Given the description of an element on the screen output the (x, y) to click on. 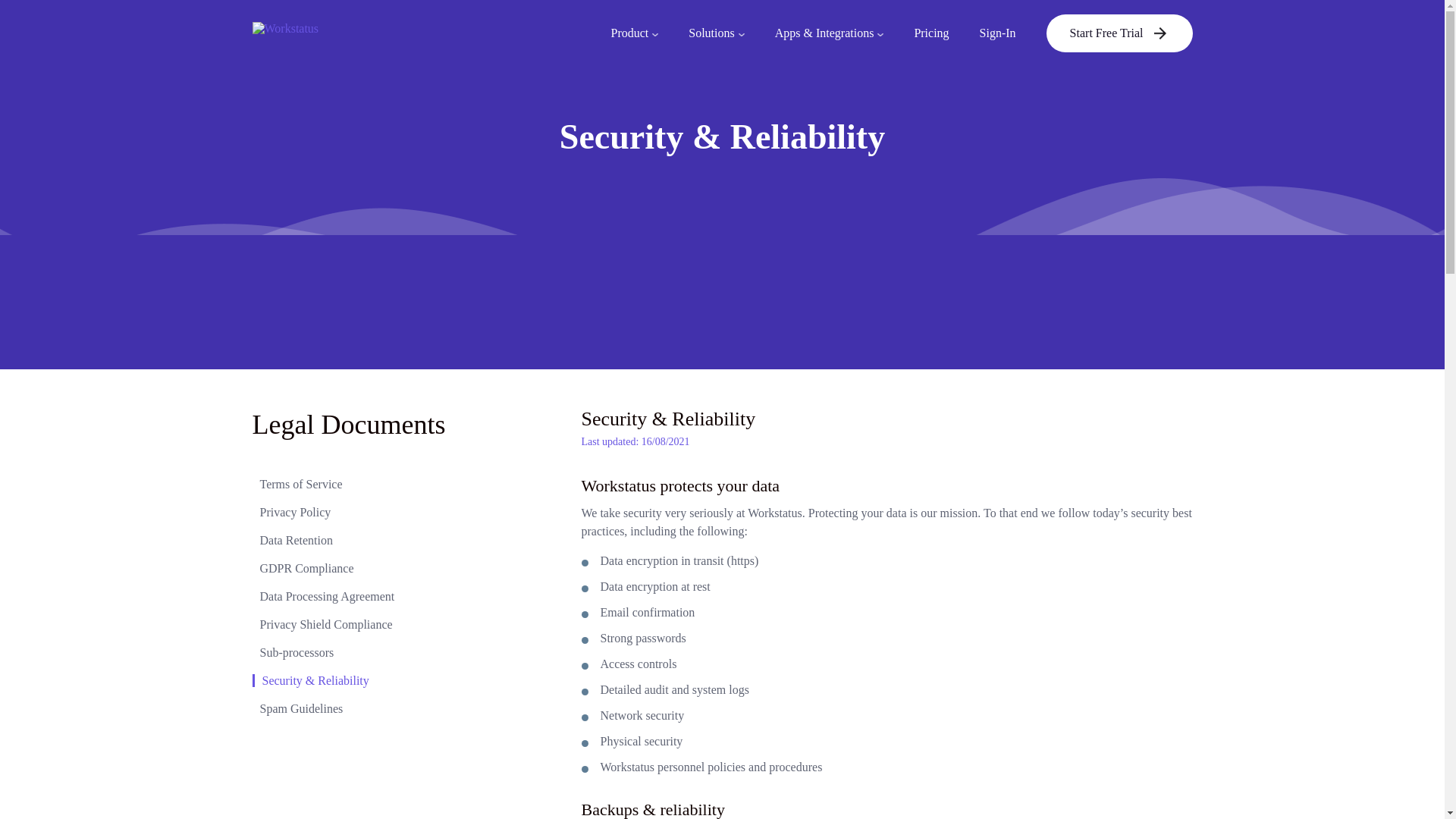
Product (634, 33)
Workstatus (338, 33)
